Given the description of an element on the screen output the (x, y) to click on. 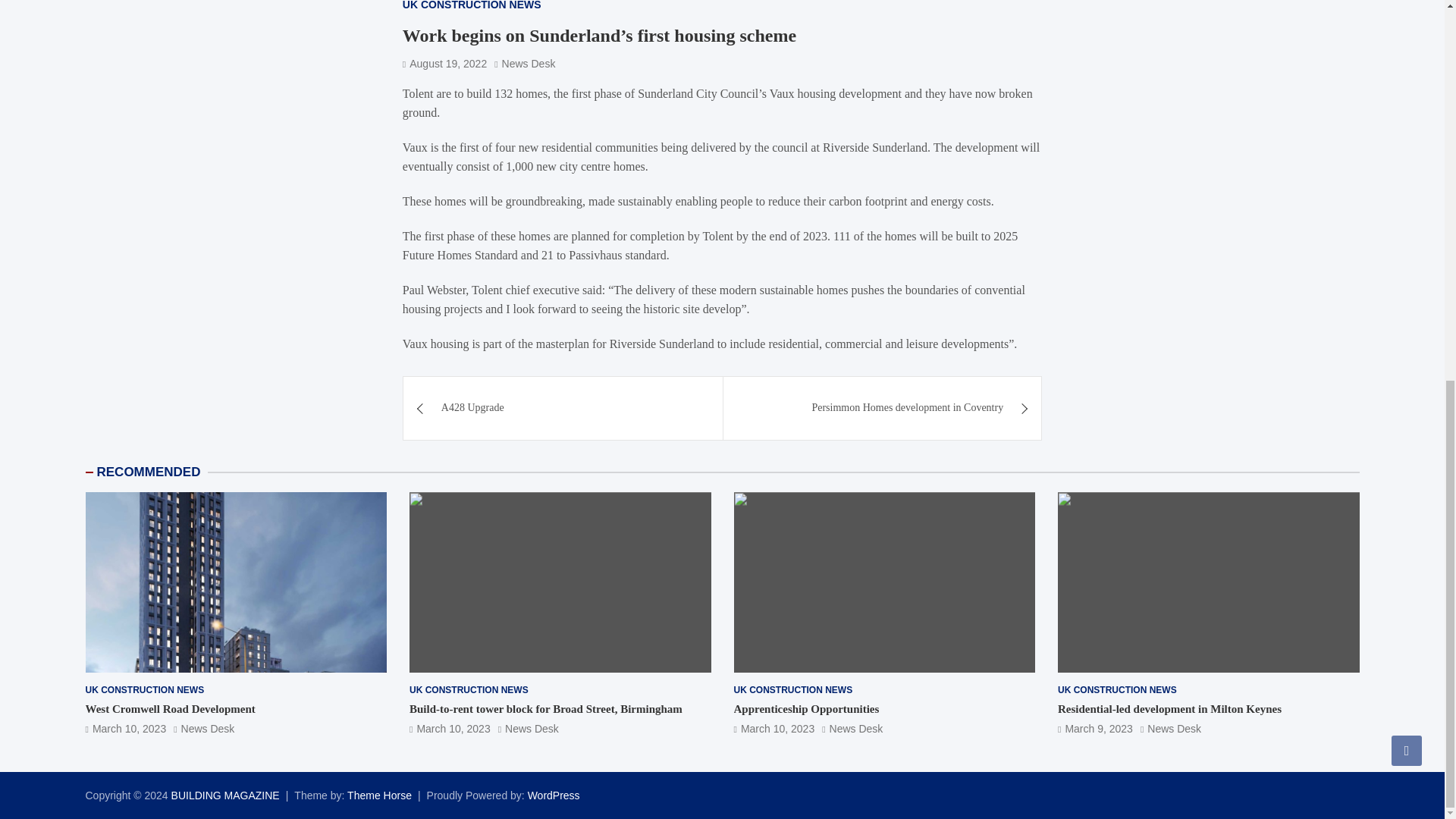
Go to Top (1406, 40)
UK CONSTRUCTION NEWS (793, 690)
Apprenticeship Opportunities (774, 728)
UK CONSTRUCTION NEWS (472, 6)
March 10, 2023 (774, 728)
Apprenticeship Opportunities (806, 708)
News Desk (1170, 728)
West Cromwell Road Development (124, 728)
West Cromwell Road Development (169, 708)
UK CONSTRUCTION NEWS (1117, 690)
